Given the description of an element on the screen output the (x, y) to click on. 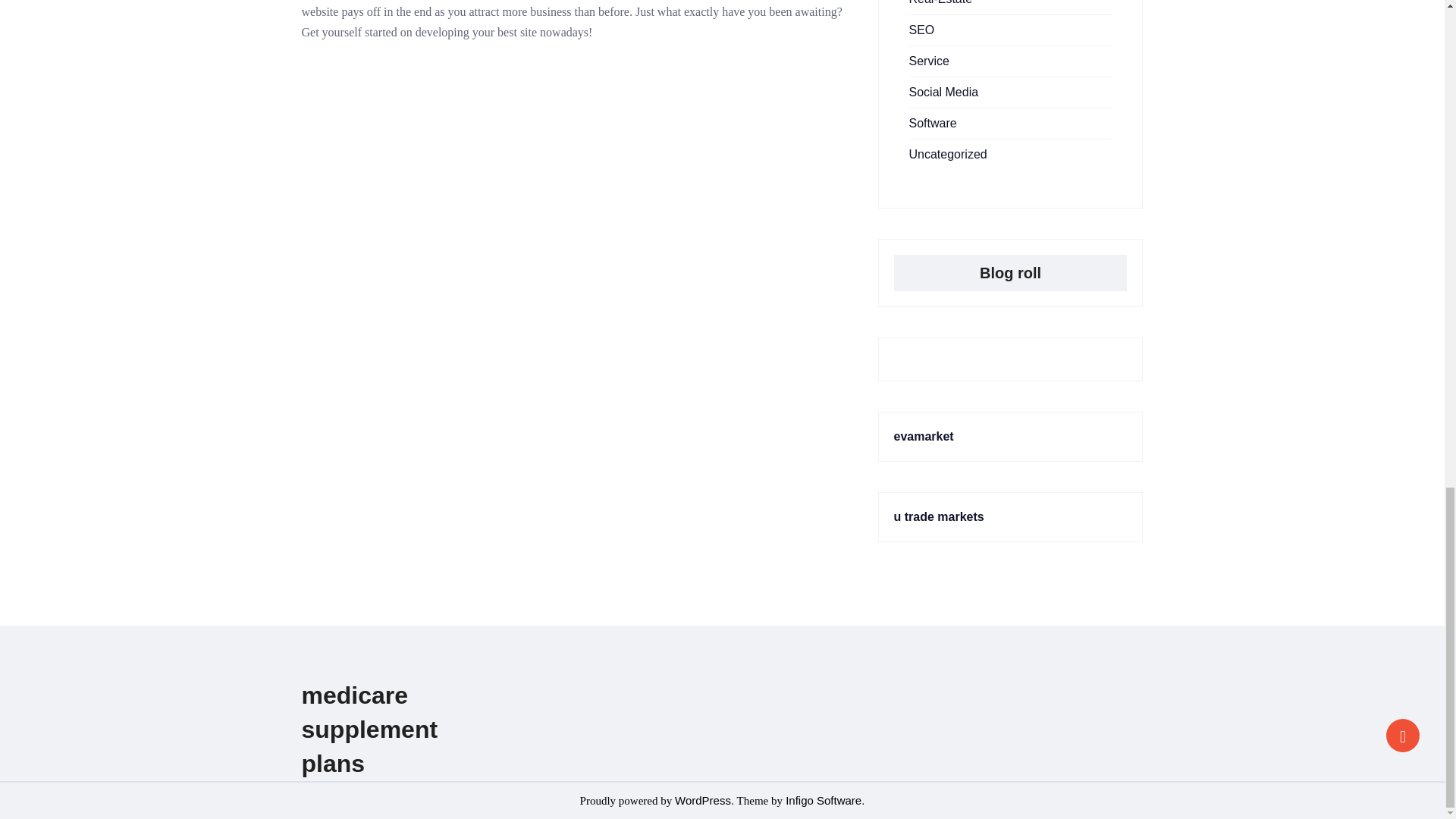
Service (928, 60)
SEO (921, 29)
u trade markets (938, 516)
Software (932, 123)
Real-Estate (940, 2)
evamarket (923, 436)
Social Media (943, 91)
Uncategorized (947, 154)
